Given the description of an element on the screen output the (x, y) to click on. 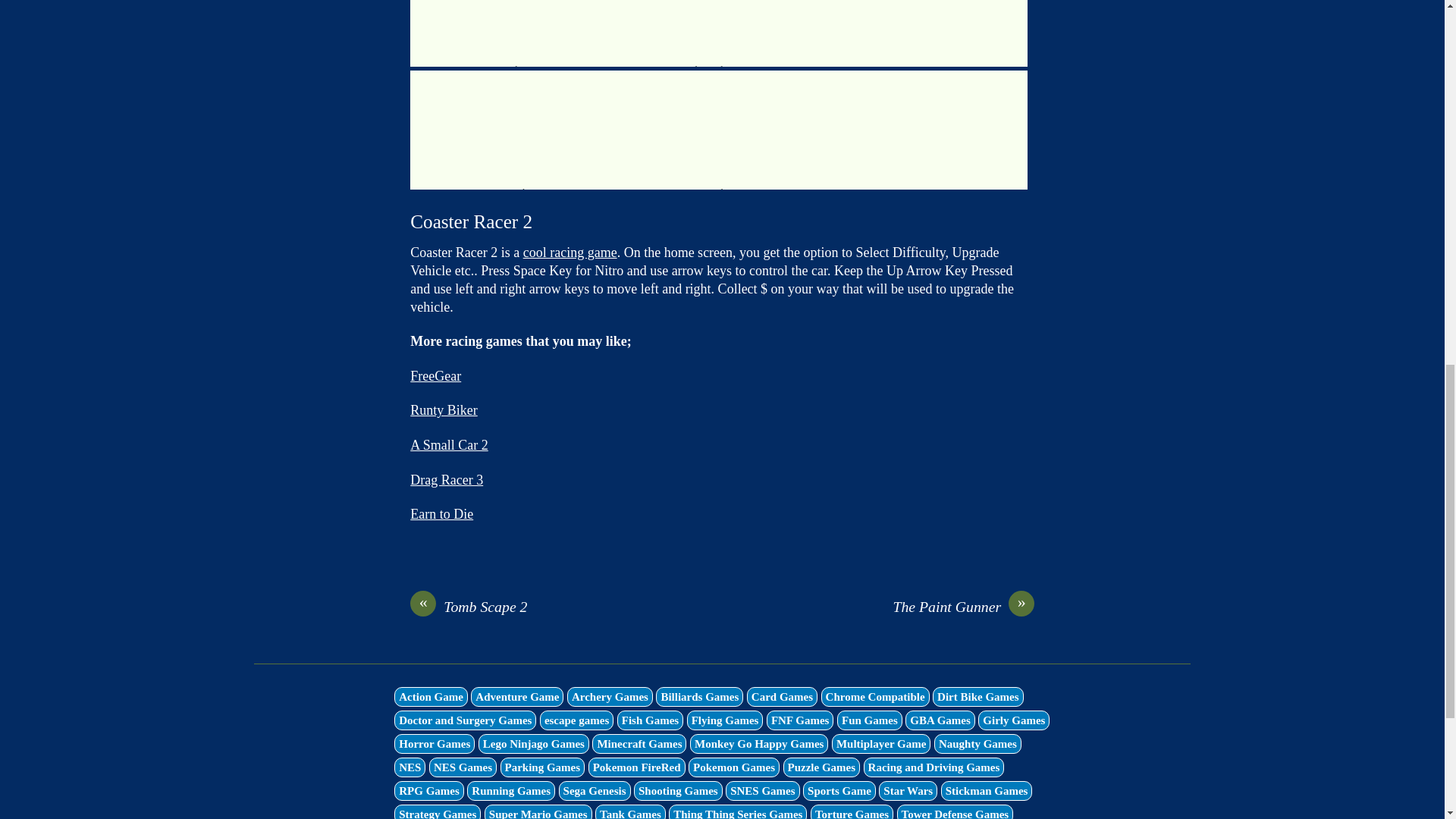
Cave Chaos 1 (512, 33)
Candy Land Transport (718, 33)
